Given the description of an element on the screen output the (x, y) to click on. 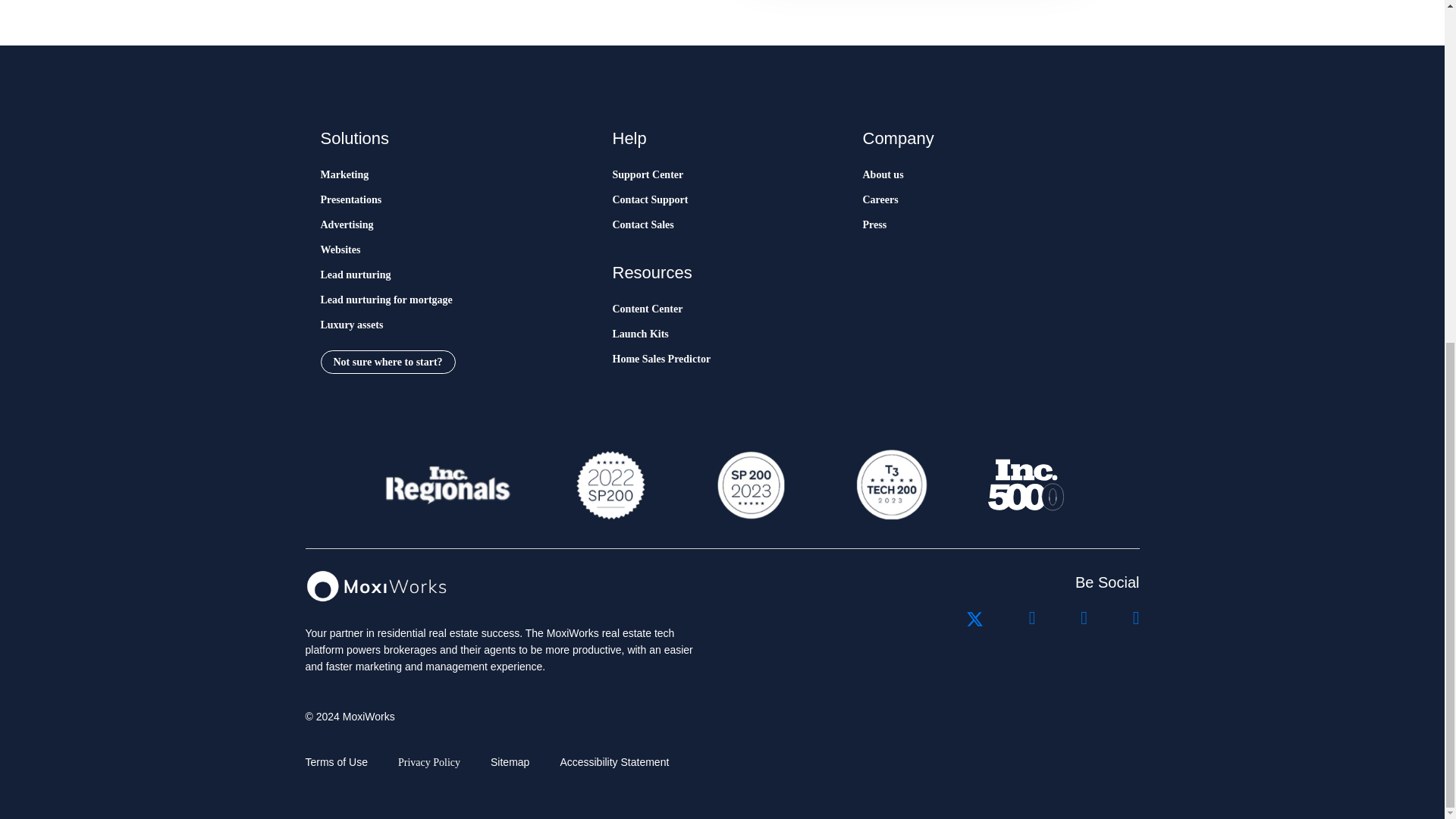
SP 2022 (610, 484)
SP 2023 (749, 484)
T3 tech 200 2023 (890, 484)
